Given the description of an element on the screen output the (x, y) to click on. 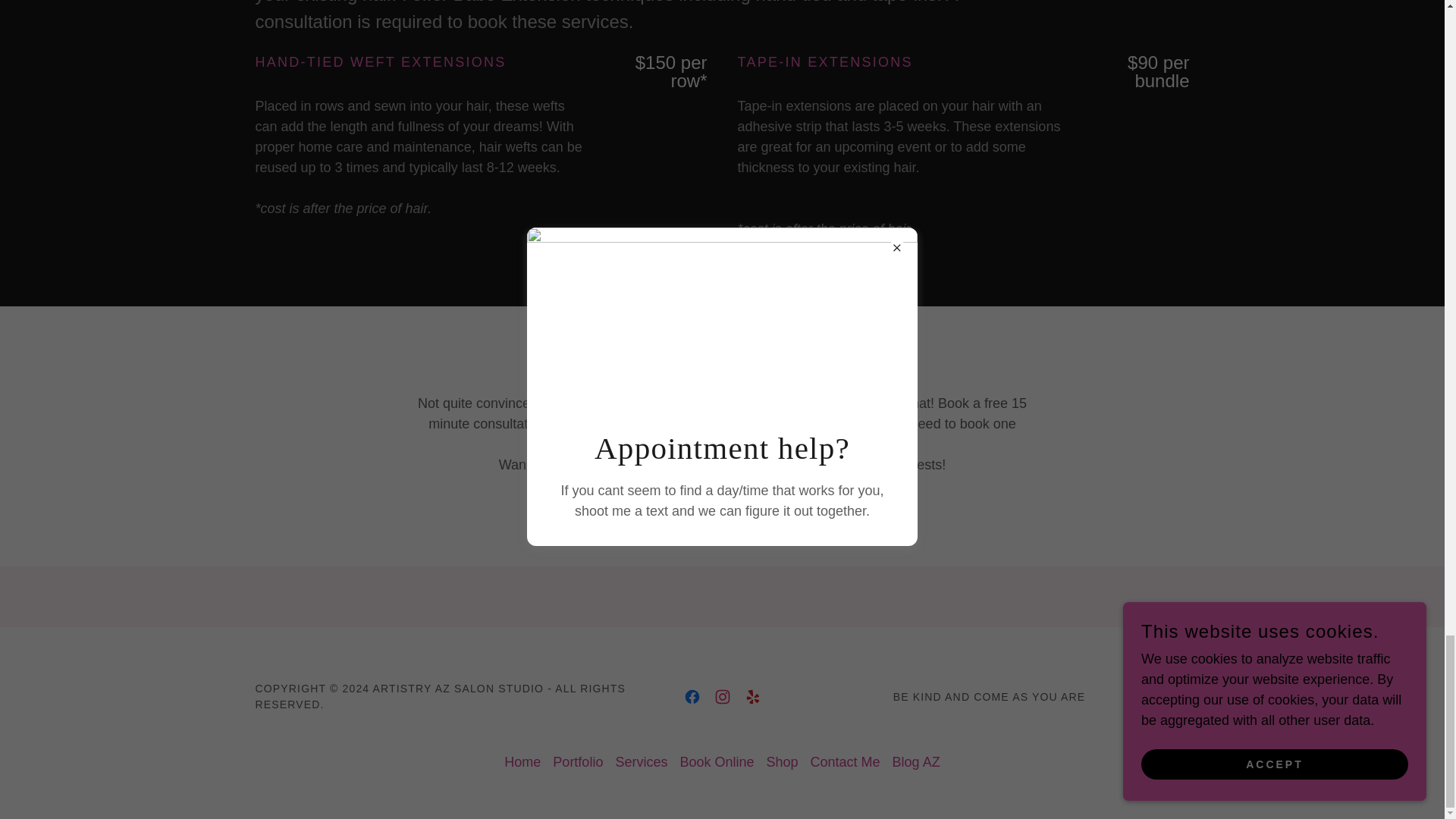
Home (522, 762)
Blog AZ (916, 762)
Contact Me (845, 762)
Portfolio (577, 762)
Services (640, 762)
Shop (781, 762)
BLOG AZ (722, 514)
Book Online (716, 762)
